Given the description of an element on the screen output the (x, y) to click on. 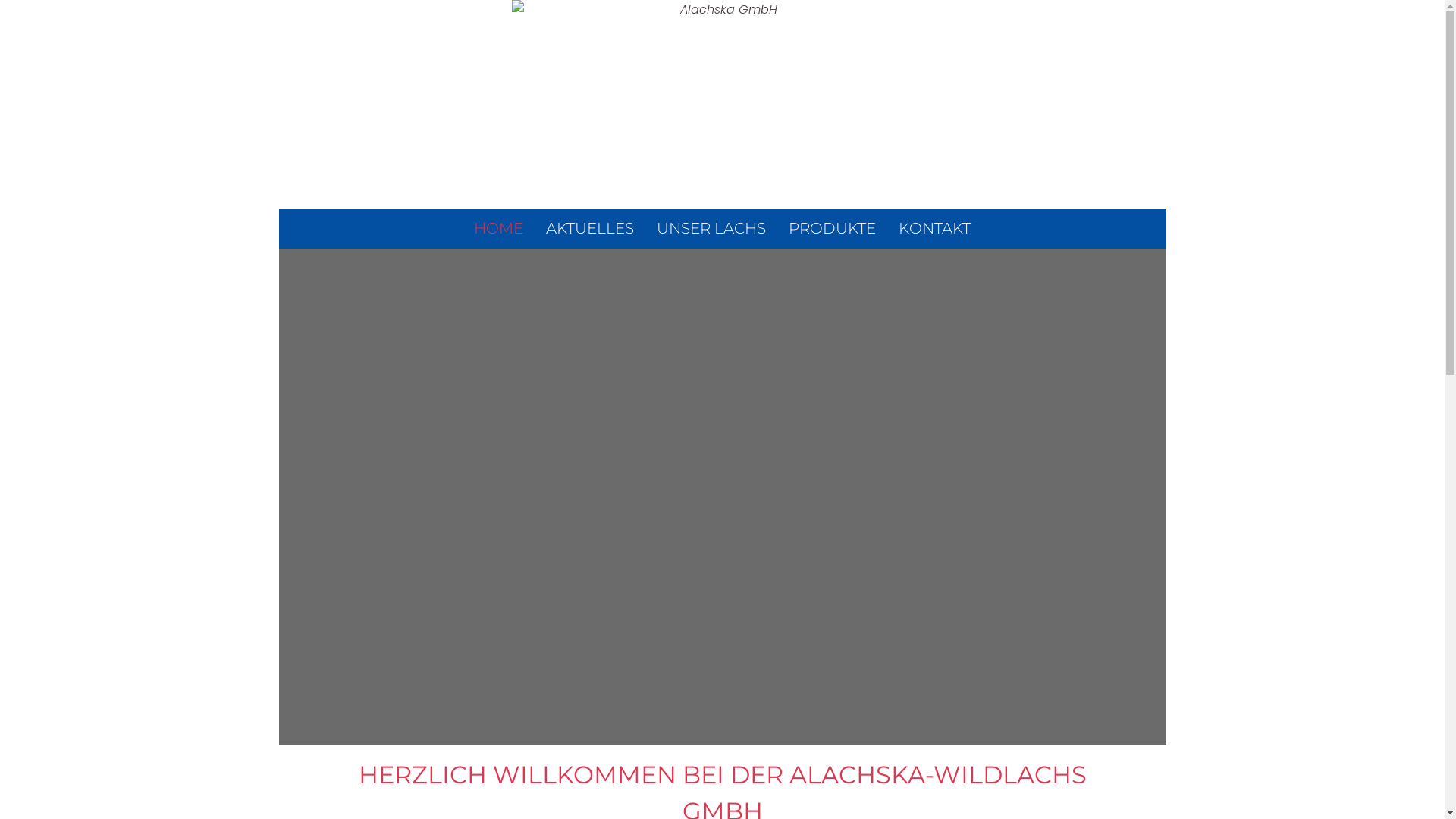
UNSER LACHS Element type: text (711, 228)
PRODUKTE Element type: text (832, 228)
AKTUELLES Element type: text (589, 228)
HOME Element type: text (498, 228)
KONTAKT Element type: text (934, 228)
